Given the description of an element on the screen output the (x, y) to click on. 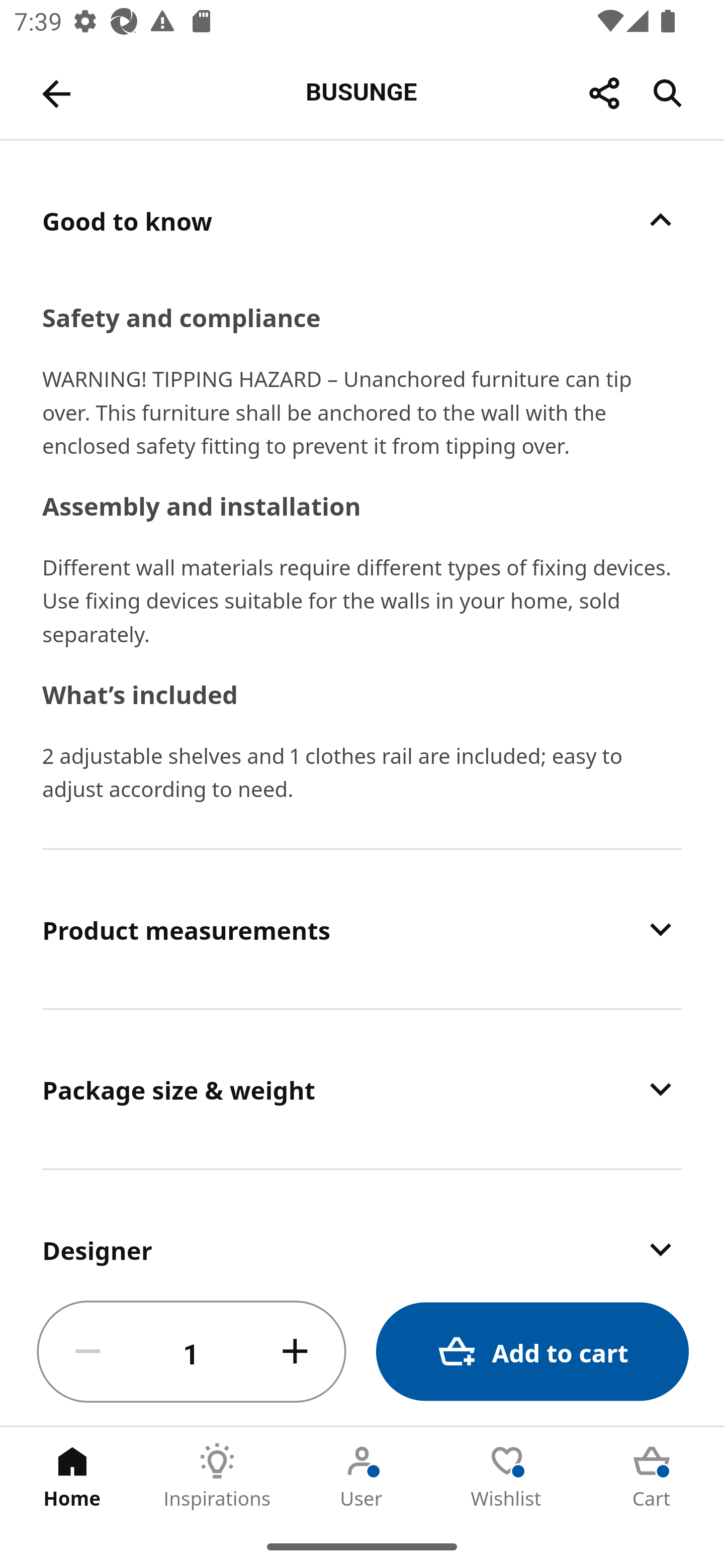
Good to know (361, 219)
Product measurements (361, 928)
Package size & weight (361, 1088)
Designer (361, 1224)
Add to cart (531, 1352)
1 (191, 1352)
Home
Tab 1 of 5 (72, 1476)
Inspirations
Tab 2 of 5 (216, 1476)
User
Tab 3 of 5 (361, 1476)
Wishlist
Tab 4 of 5 (506, 1476)
Cart
Tab 5 of 5 (651, 1476)
